Given the description of an element on the screen output the (x, y) to click on. 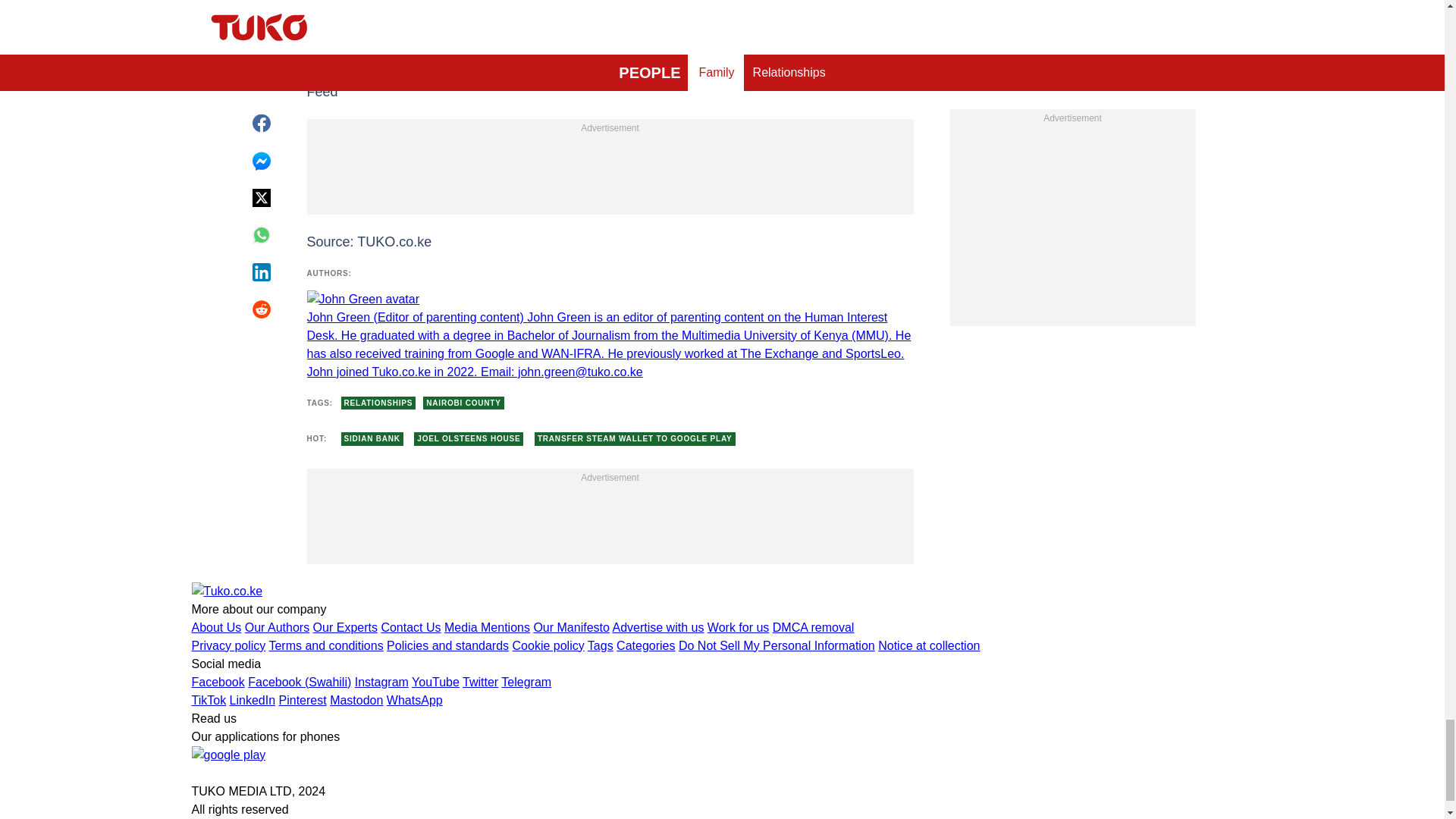
Author page (608, 335)
